Given the description of an element on the screen output the (x, y) to click on. 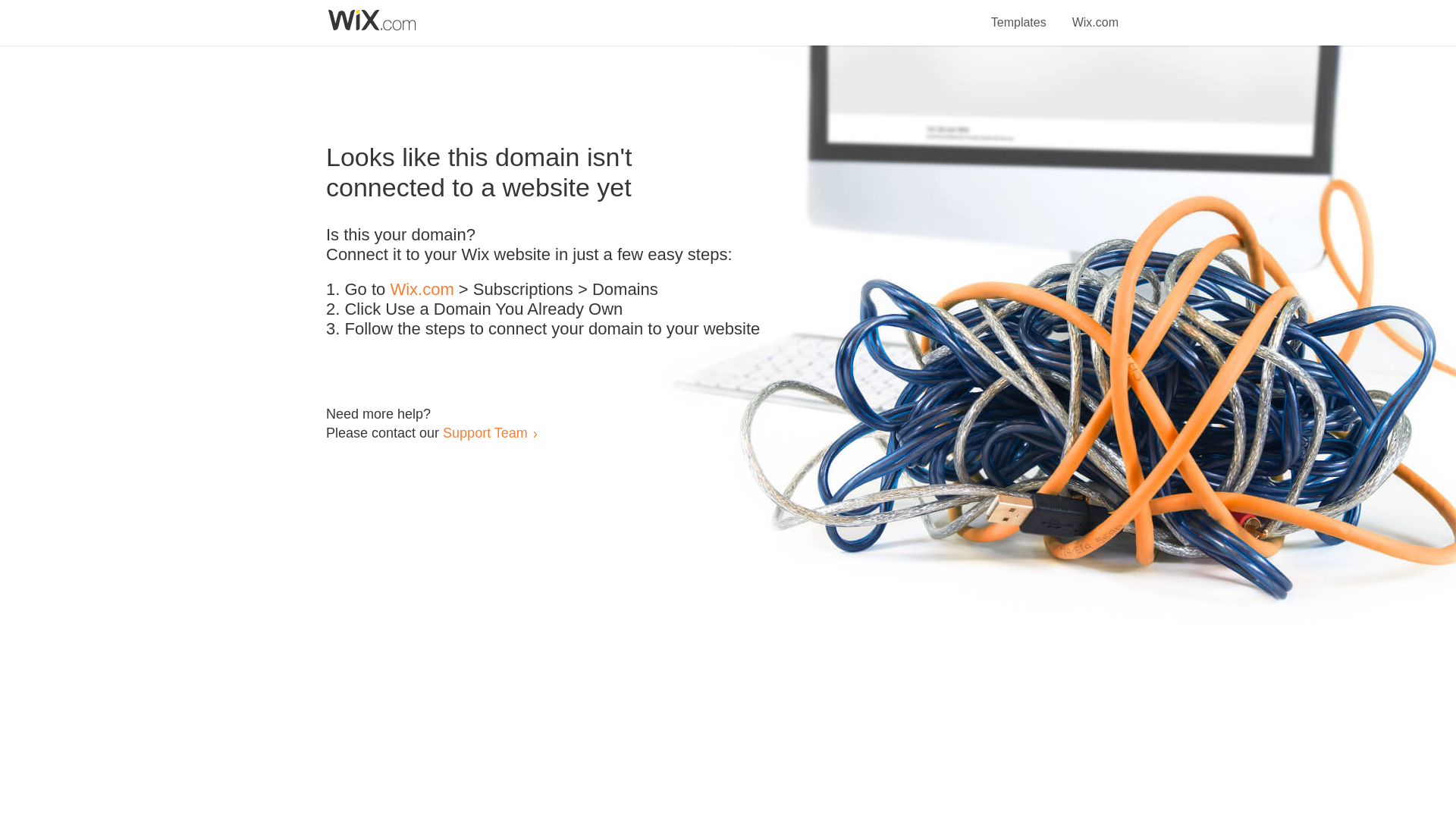
Wix.com (1095, 14)
Support Team (484, 432)
Templates (1018, 14)
Wix.com (421, 289)
